Given the description of an element on the screen output the (x, y) to click on. 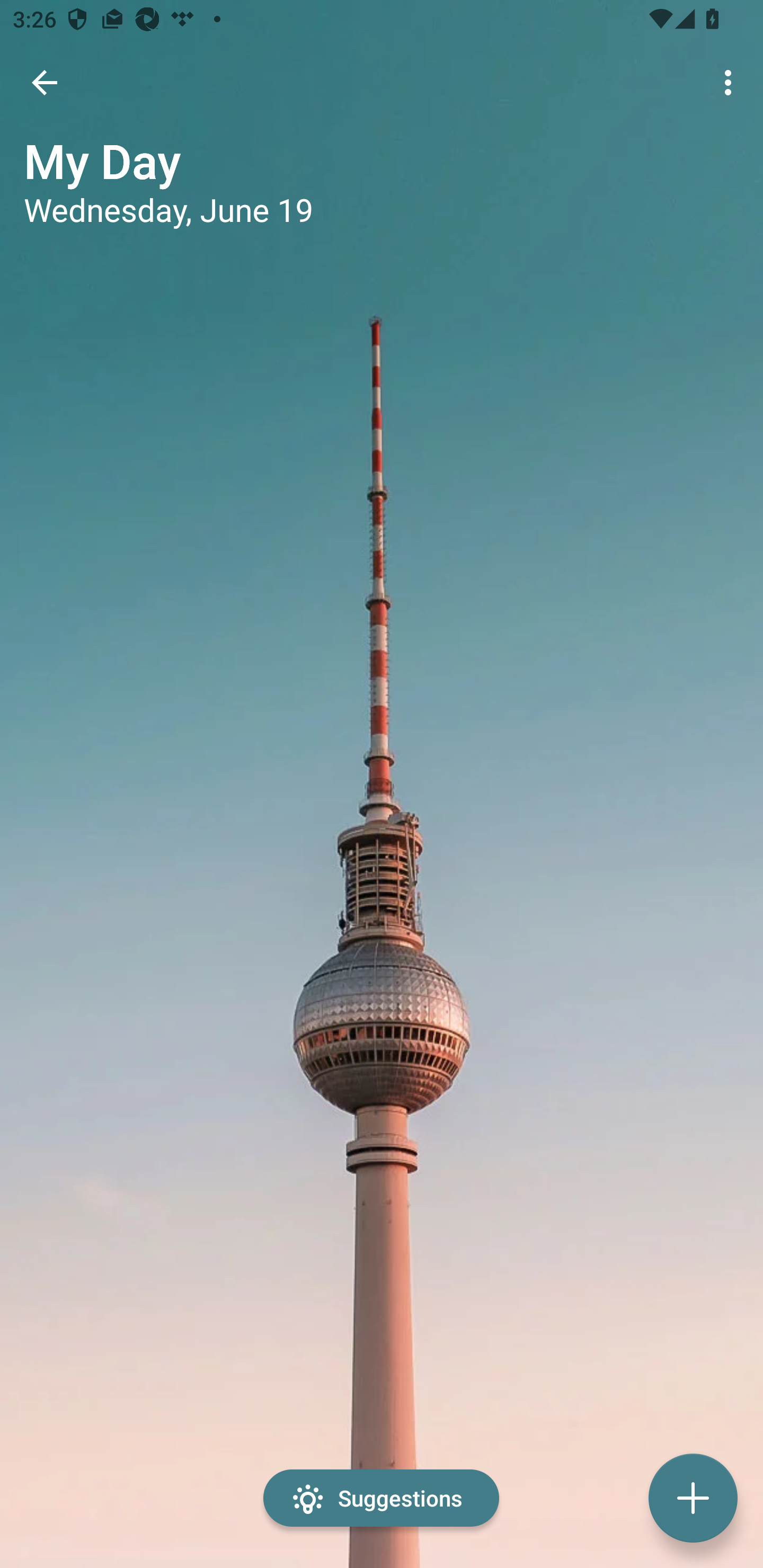
Add a task (692, 1497)
